Given the description of an element on the screen output the (x, y) to click on. 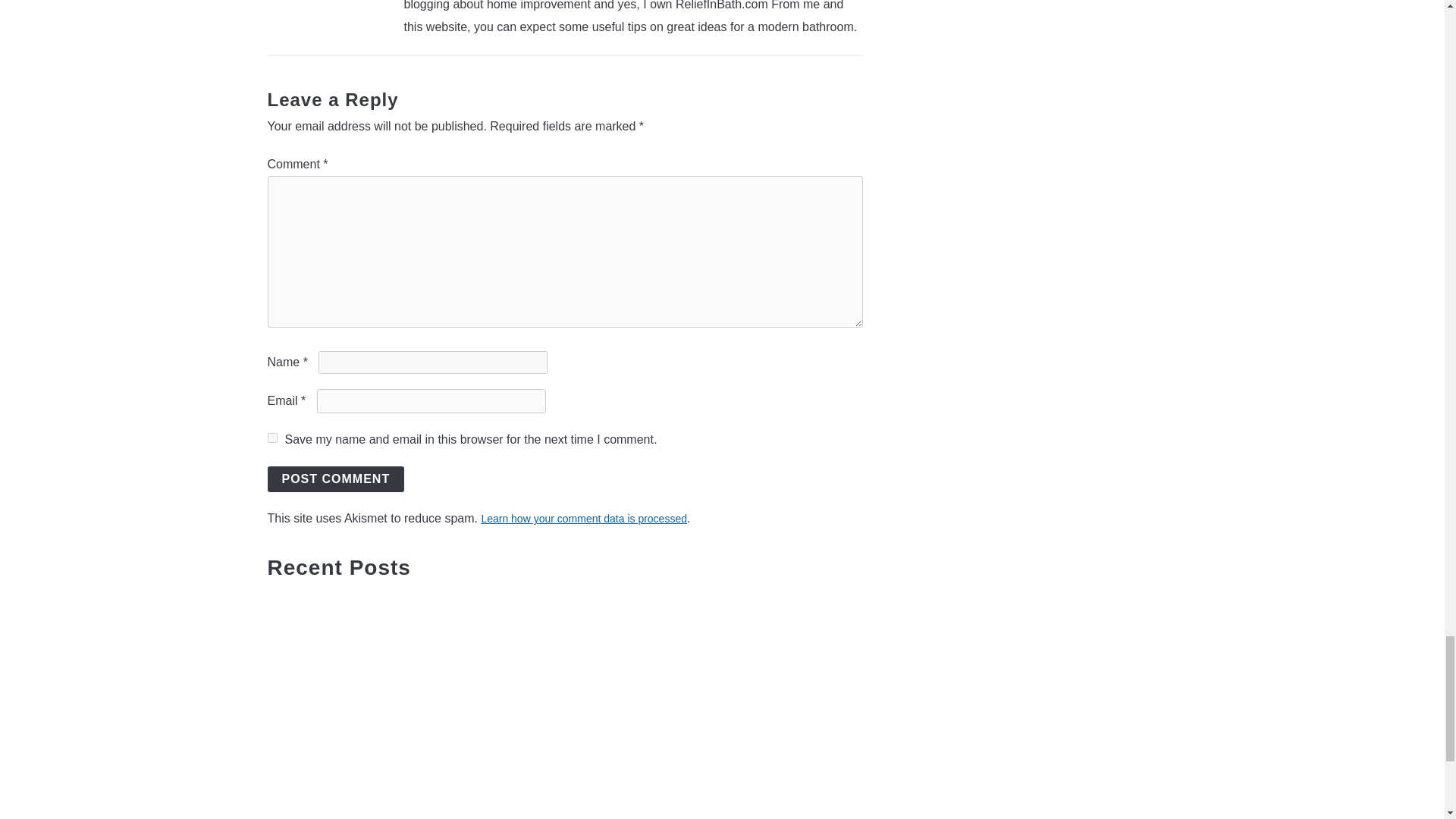
Learn how your comment data is processed (583, 518)
Post Comment (335, 479)
yes (271, 438)
Post Comment (335, 479)
